Given the description of an element on the screen output the (x, y) to click on. 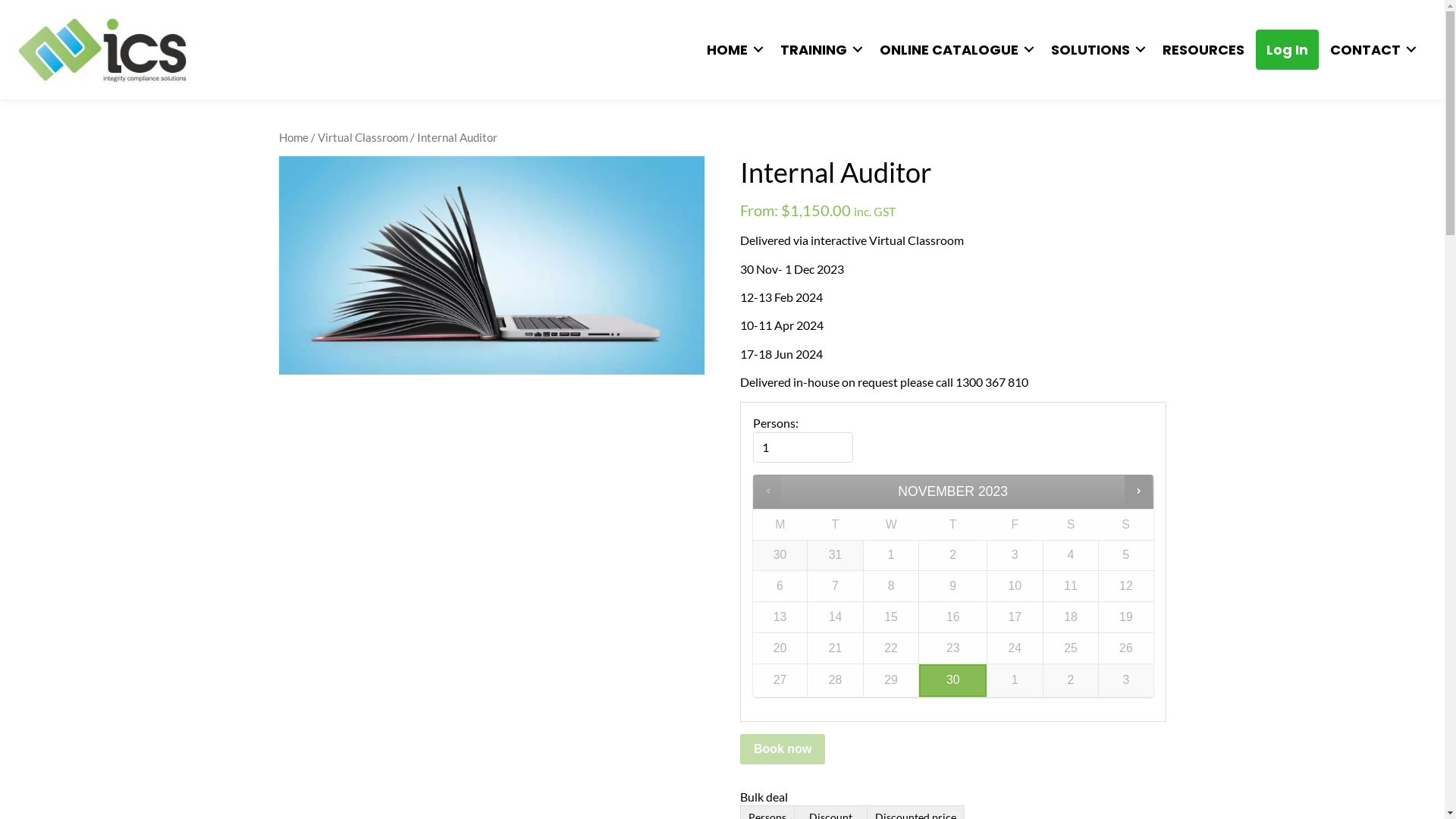
HOME Element type: text (732, 49)
Virtual Classroom Element type: text (361, 137)
TRAINING Element type: text (818, 49)
creative E-learning Concept Book and Laptop 3d render Element type: hover (492, 264)
ics_logo_new Element type: hover (102, 49)
Log In Element type: text (1286, 49)
ONLINE CATALOGUE Element type: text (954, 49)
Home Element type: text (293, 137)
30 Element type: text (952, 680)
Book now Element type: text (782, 749)
PREVIOUS Element type: text (767, 491)
CONTACT Element type: text (1370, 49)
RESOURCES Element type: text (1203, 49)
NEXT Element type: text (1137, 491)
SOLUTIONS Element type: text (1095, 49)
